Given the description of an element on the screen output the (x, y) to click on. 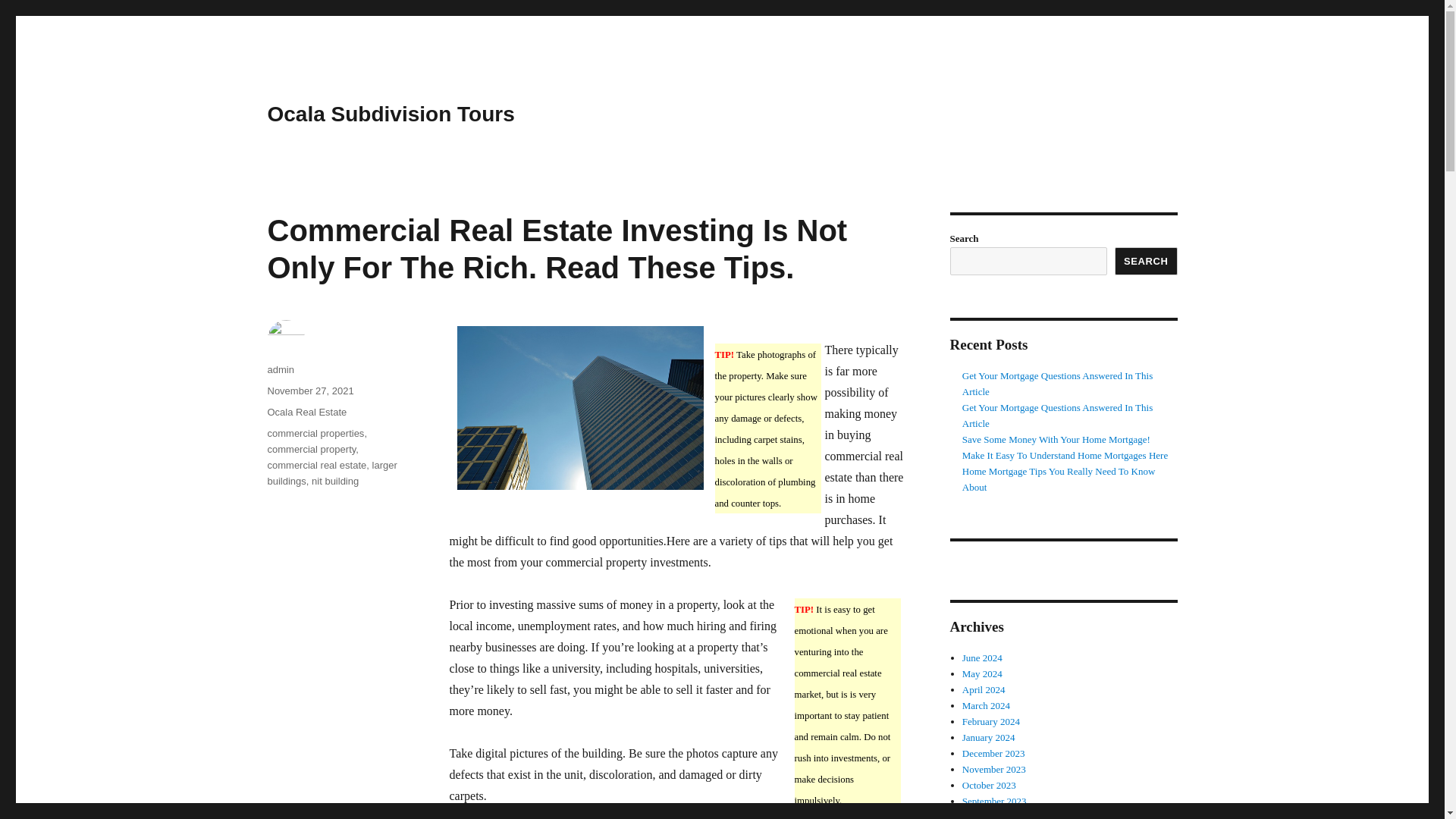
nit building (334, 480)
October 2023 (989, 785)
April 2024 (984, 689)
Ocala Real Estate (306, 411)
November 27, 2021 (309, 390)
November 2023 (994, 768)
SEARCH (1146, 261)
larger buildings (331, 472)
Get Your Mortgage Questions Answered In This Article (1057, 415)
commercial property (310, 449)
June 2024 (982, 657)
February 2024 (991, 721)
Make It Easy To Understand Home Mortgages Here (1064, 455)
commercial real estate (316, 464)
commercial properties (315, 432)
